Given the description of an element on the screen output the (x, y) to click on. 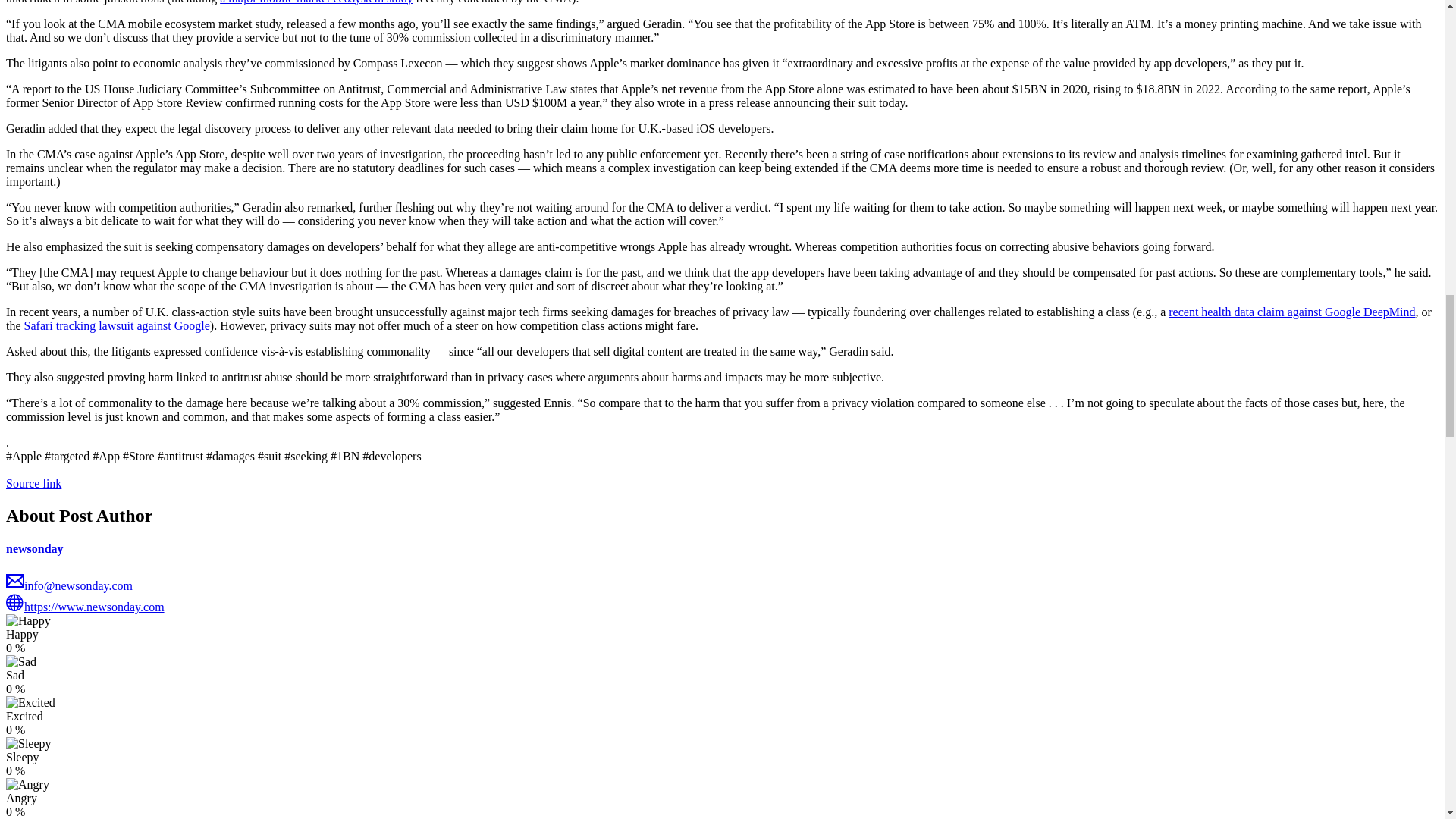
Source link (33, 482)
newsonday (34, 548)
Safari tracking lawsuit against Google (116, 325)
recent health data claim against Google DeepMind (1292, 311)
a major mobile market ecosystem study (316, 2)
